Given the description of an element on the screen output the (x, y) to click on. 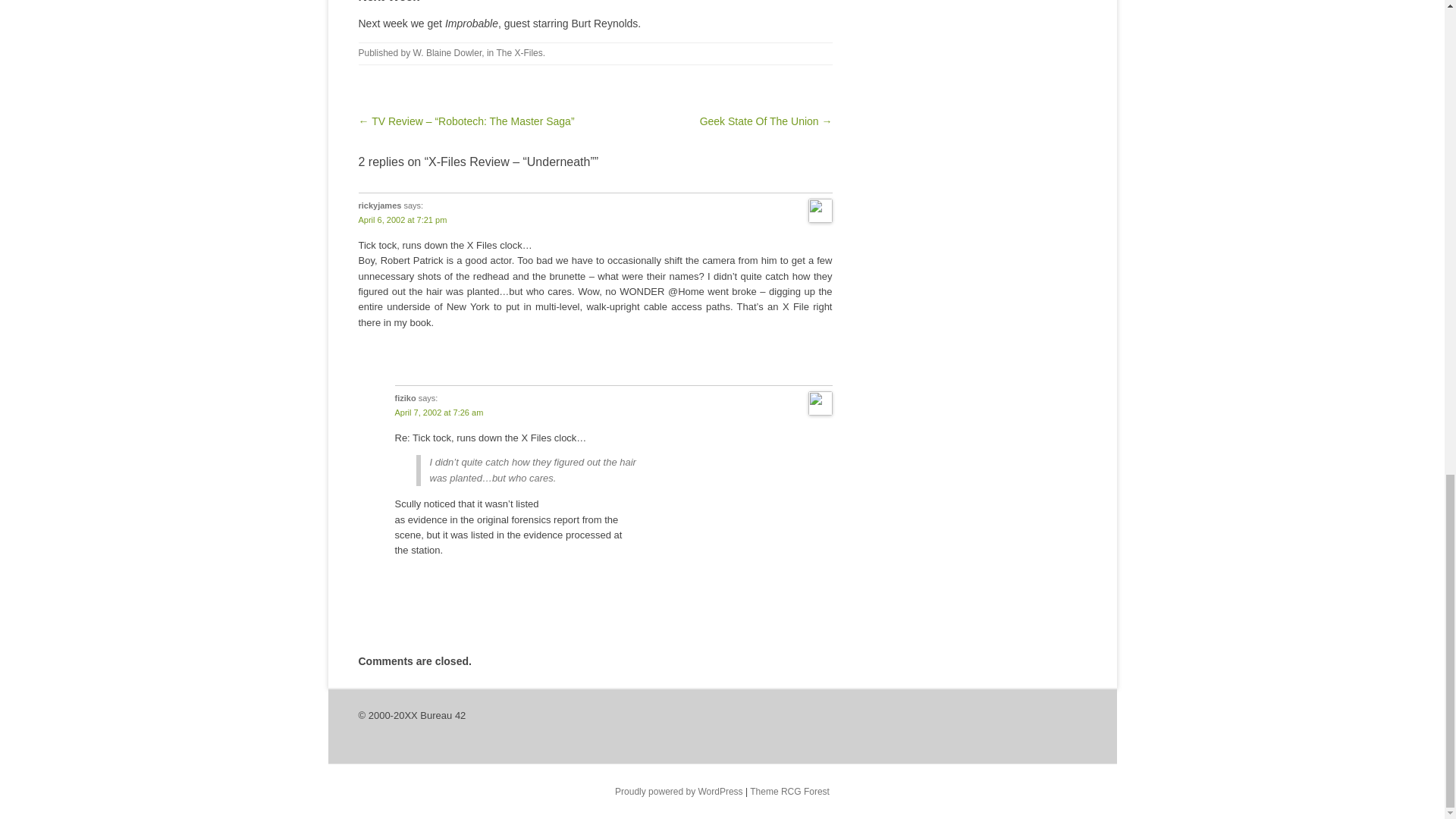
April 6, 2002 at 7:21 pm (402, 219)
The X-Files (518, 52)
April 7, 2002 at 7:26 am (438, 411)
View all posts by W. Blaine Dowler (447, 52)
Semantic Personal Publishing Platform (678, 791)
Proudly powered by WordPress (678, 791)
W. Blaine Dowler (447, 52)
